Given the description of an element on the screen output the (x, y) to click on. 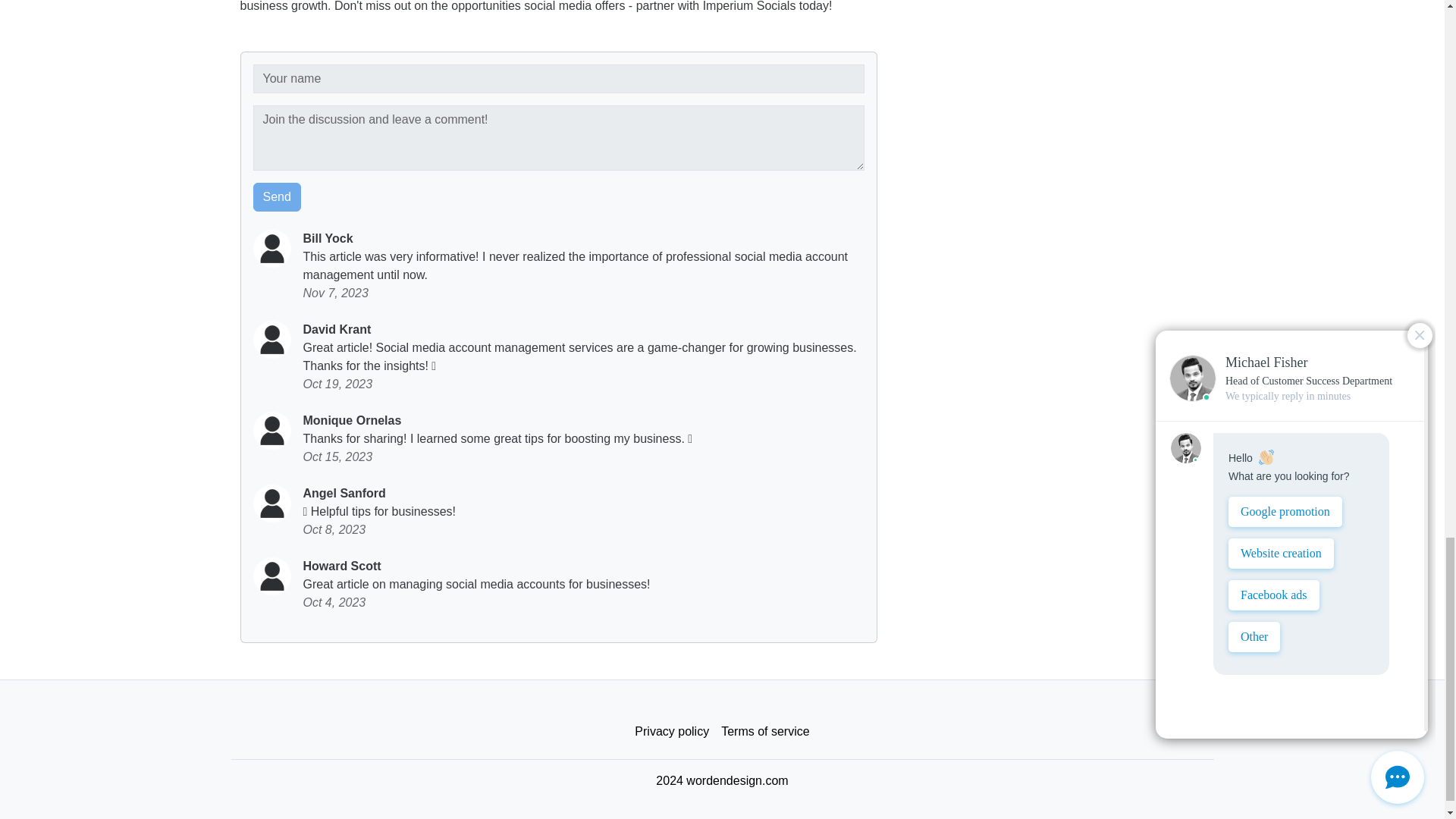
Terms of service (764, 731)
Send (277, 196)
Privacy policy (671, 731)
Send (277, 196)
